Given the description of an element on the screen output the (x, y) to click on. 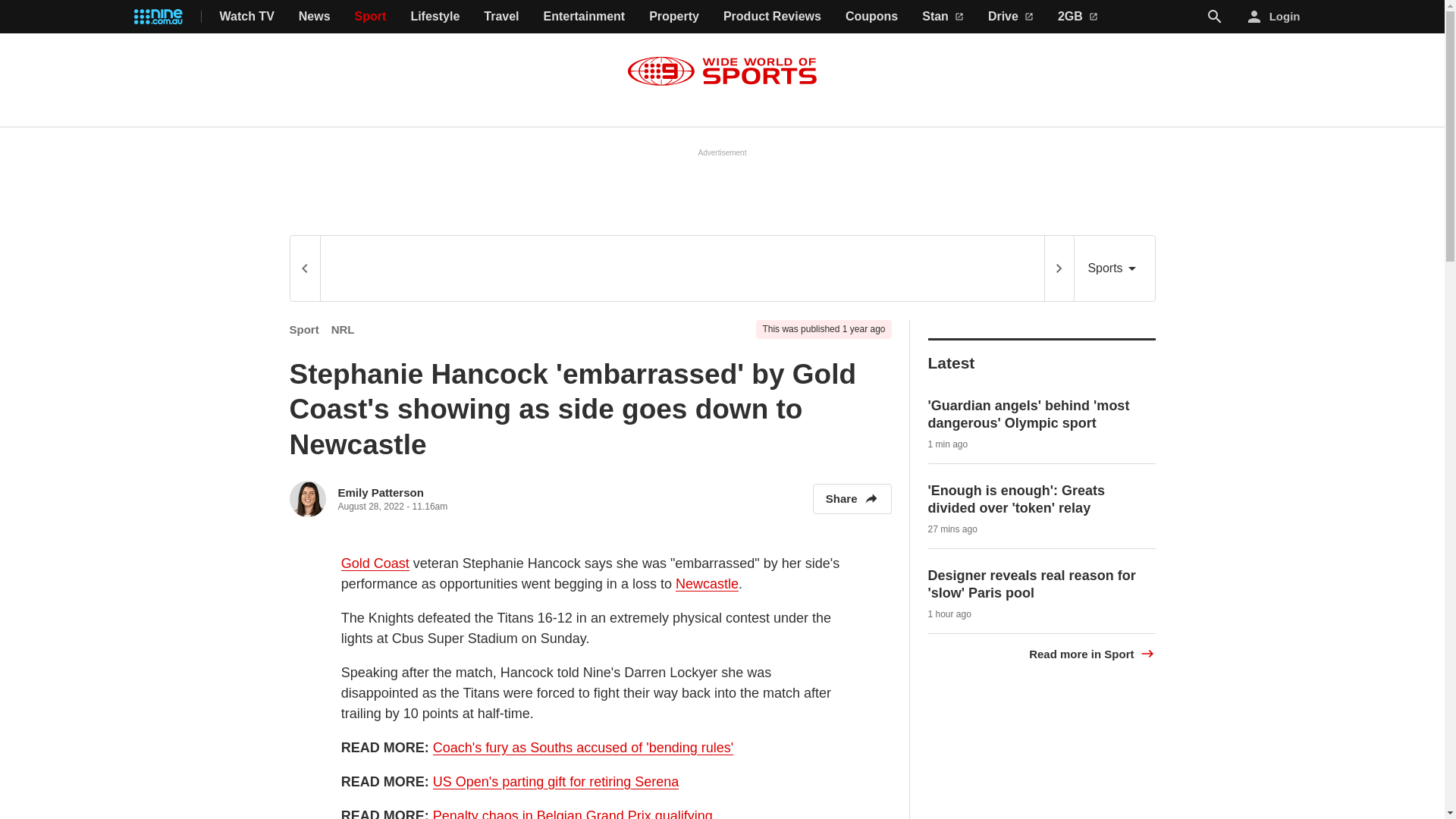
Sports (1114, 268)
Coach's fury as Souths accused of 'bending rules' (582, 741)
Search (1214, 16)
Watch TV (247, 16)
News (314, 16)
NRL (343, 328)
Product Reviews (772, 16)
US Open's parting gift for retiring Serena (555, 775)
Stan (942, 16)
Share (851, 495)
Search (1214, 16)
Lifestyle (435, 16)
Newcastle (706, 578)
2GB (1077, 16)
Travel (500, 16)
